Given the description of an element on the screen output the (x, y) to click on. 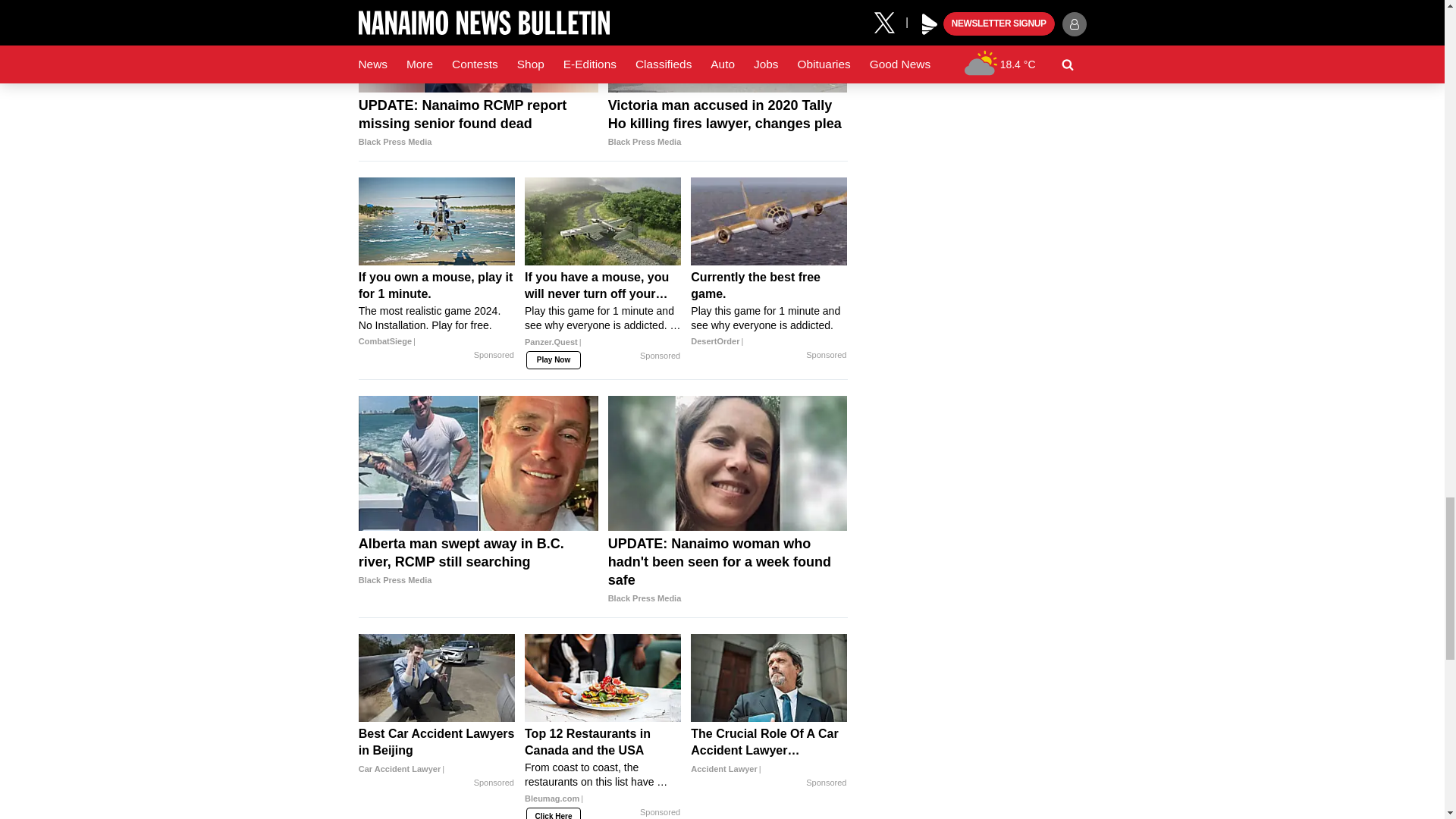
If you own a mouse, play it for 1 minute. (436, 309)
UPDATE: Nanaimo RCMP report missing senior found dead (478, 46)
UPDATE: Nanaimo RCMP report missing senior found dead (478, 123)
If you own a mouse, play it for 1 minute. (436, 221)
